Given the description of an element on the screen output the (x, y) to click on. 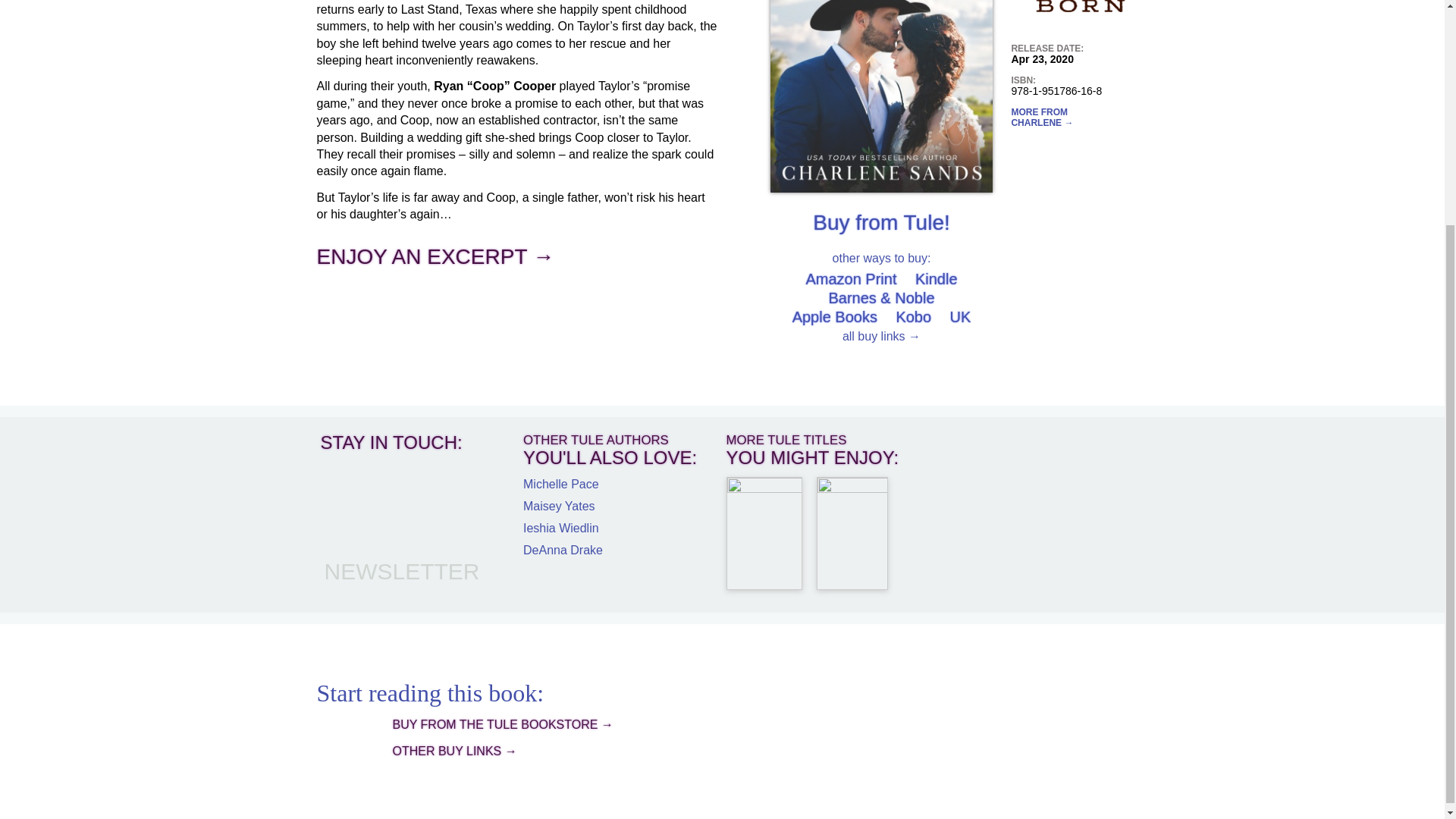
Apple Books (834, 316)
Kindle (936, 279)
NEWSLETTER (402, 571)
Amazon Print (850, 279)
Kobo (913, 316)
Buy from Tule! (881, 222)
Instagram (343, 533)
TikTok (391, 533)
Twitter (391, 484)
Michelle Pace (560, 483)
Facebook (343, 484)
UK (960, 316)
